Given the description of an element on the screen output the (x, y) to click on. 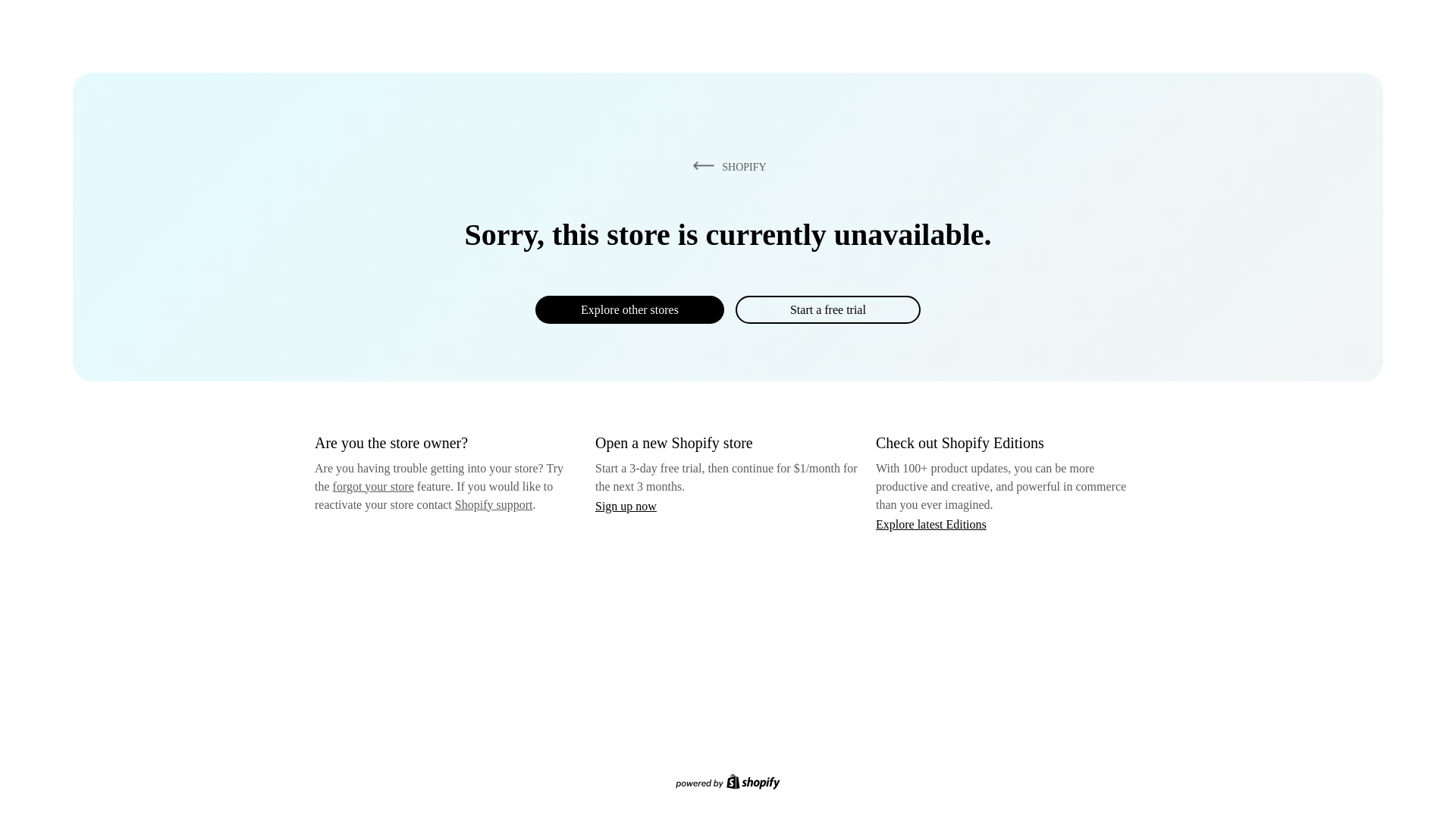
Explore latest Editions (931, 523)
SHOPIFY (726, 166)
Sign up now (625, 505)
Shopify support (493, 504)
Explore other stores (629, 309)
Start a free trial (827, 309)
forgot your store (373, 486)
